Given the description of an element on the screen output the (x, y) to click on. 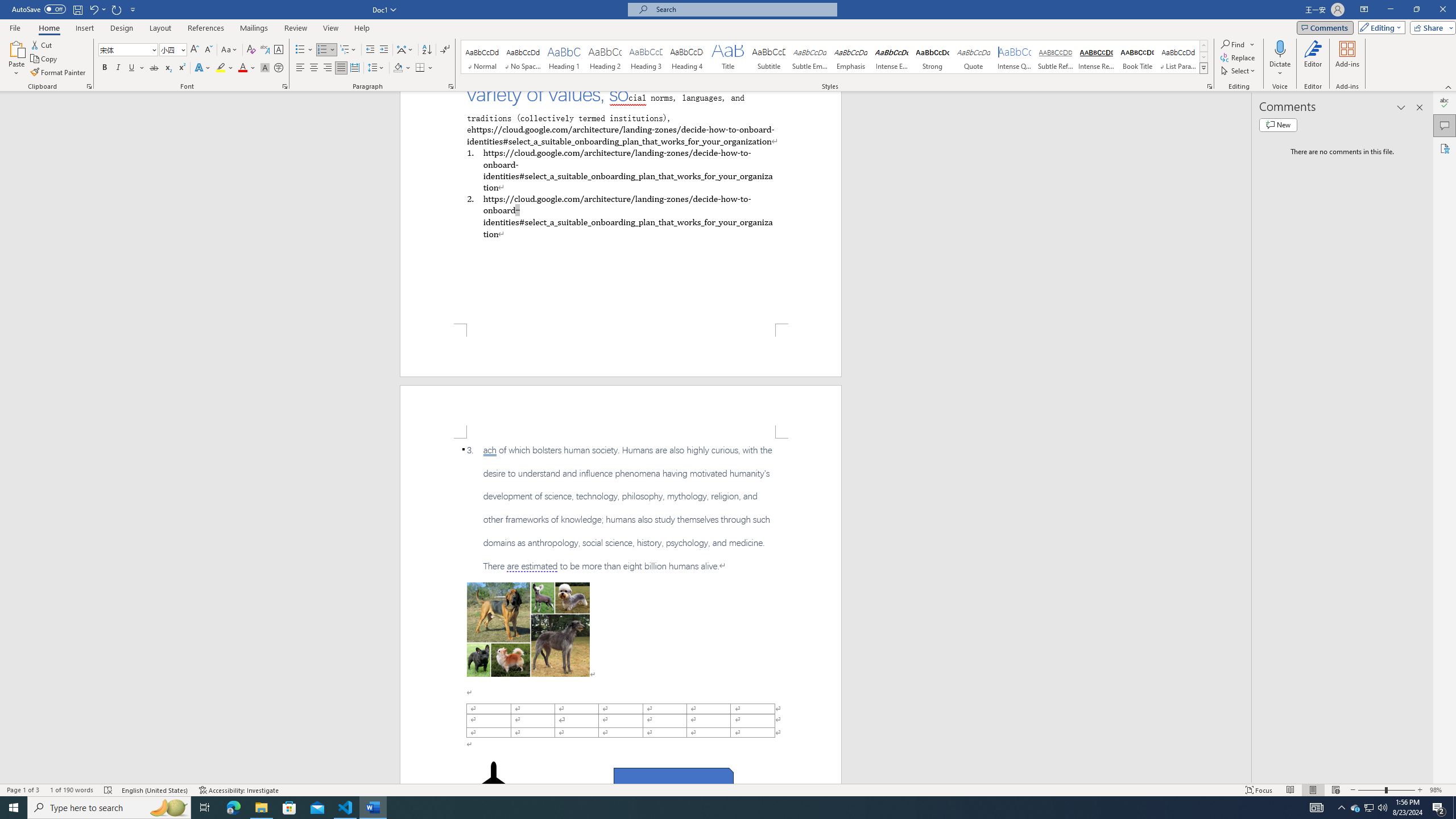
Text Highlight Color (224, 67)
Close (1442, 9)
Character Border (278, 49)
Customize Quick Access Toolbar (133, 9)
Undo Apply Quick Style (92, 9)
Find (1232, 44)
Numbering (326, 49)
Home (48, 28)
Distributed (354, 67)
Row Down (1203, 56)
Editor (1444, 102)
Superscript (180, 67)
Heading 2 (605, 56)
Class: NetUIImage (1204, 68)
Bold (104, 67)
